Given the description of an element on the screen output the (x, y) to click on. 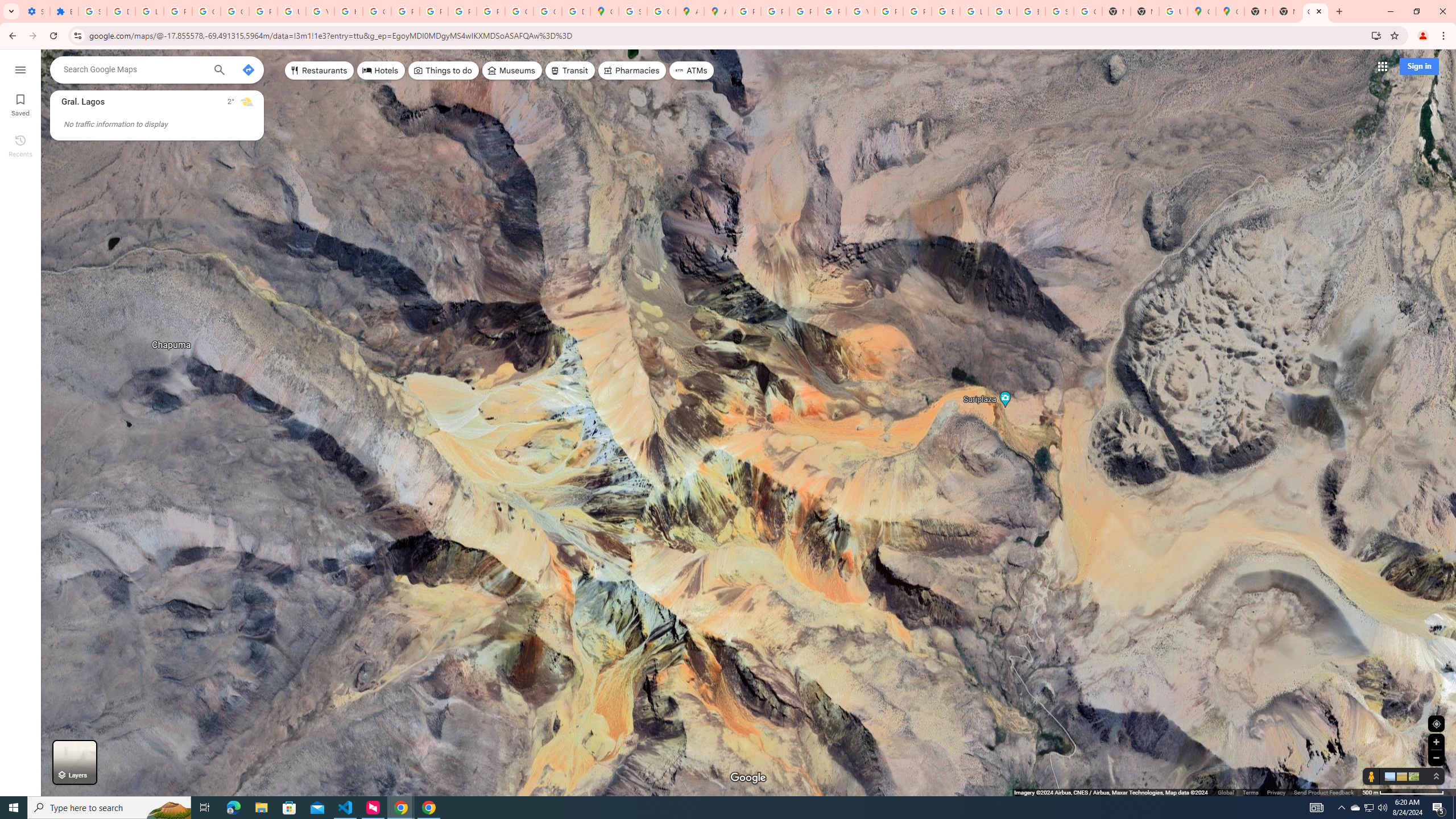
Global (1225, 792)
Hotels (381, 70)
Sign in - Google Accounts (1058, 11)
Create your Google Account (661, 11)
Google Maps (1230, 11)
Layers (74, 762)
Extensions (63, 11)
